Given the description of an element on the screen output the (x, y) to click on. 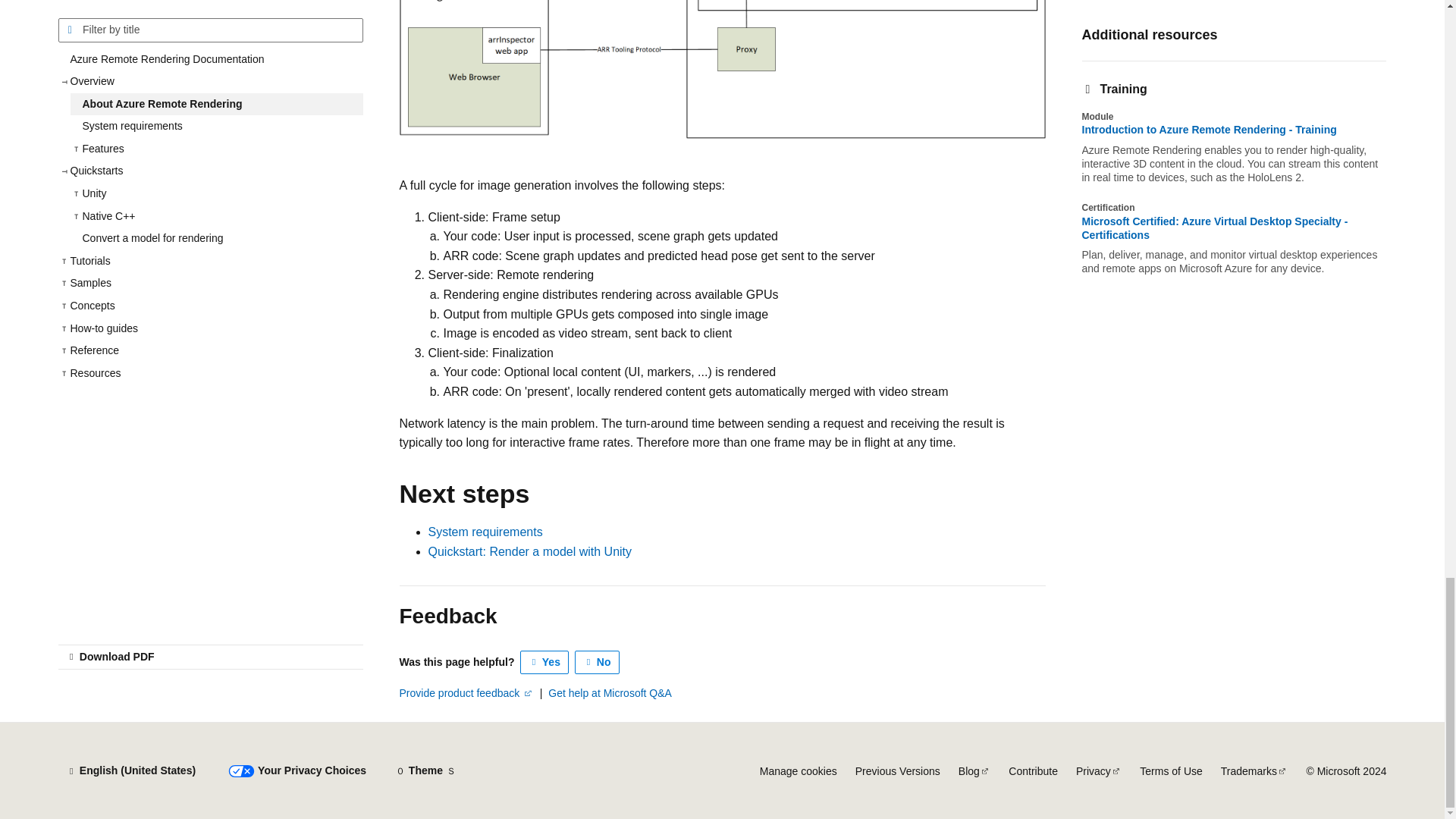
Theme (425, 770)
This article is helpful (544, 662)
This article is not helpful (597, 662)
